Given the description of an element on the screen output the (x, y) to click on. 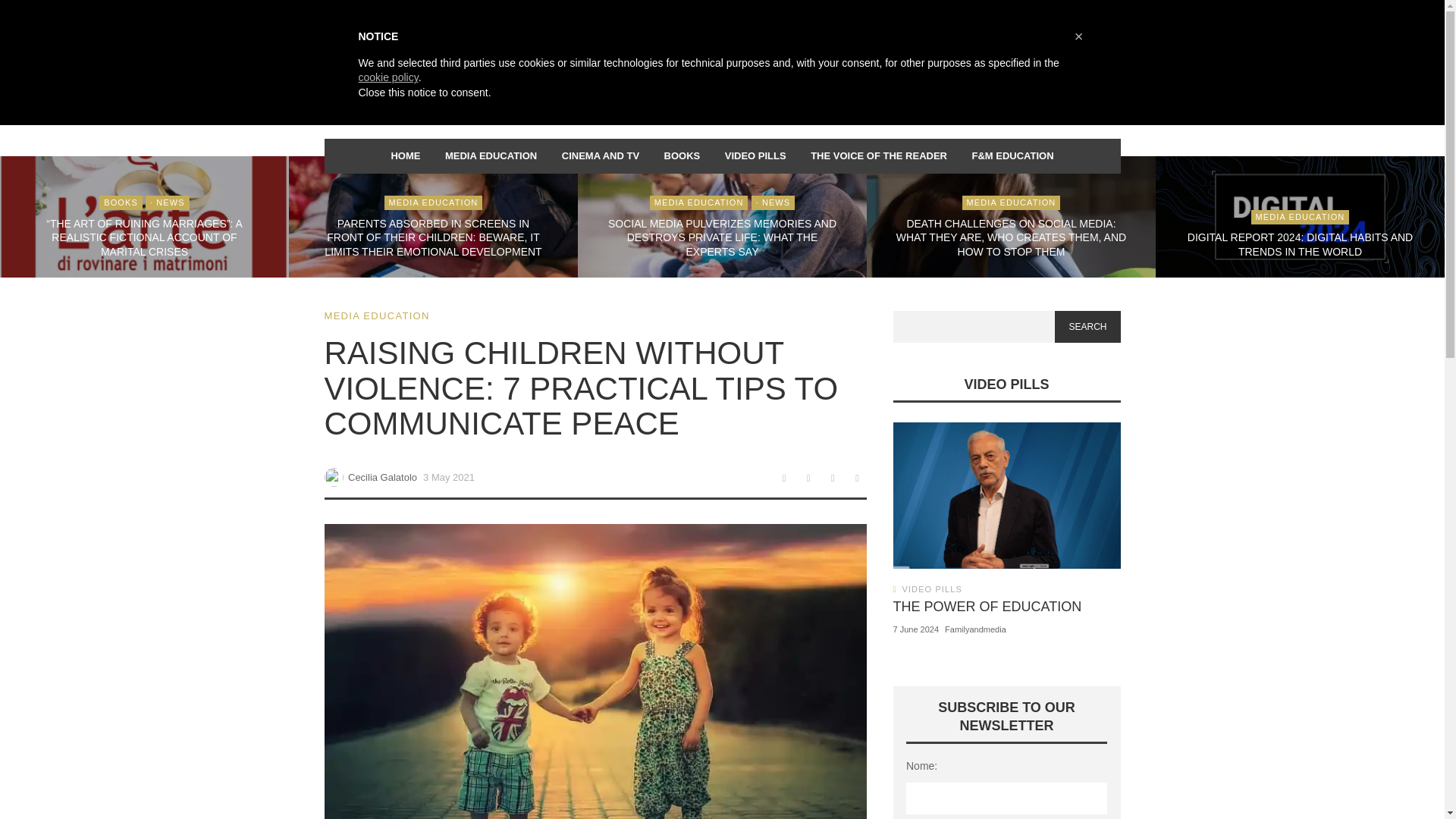
THE VOICE OF THE READER (878, 155)
MEDIA EDUCATION (491, 155)
HOME (405, 155)
VIDEO PILLS (754, 155)
ABOUT US (540, 15)
CONTACT US (687, 15)
BOOKS (680, 155)
SUGGESTED LINKS (611, 15)
CINEMA AND TV (599, 155)
